Given the description of an element on the screen output the (x, y) to click on. 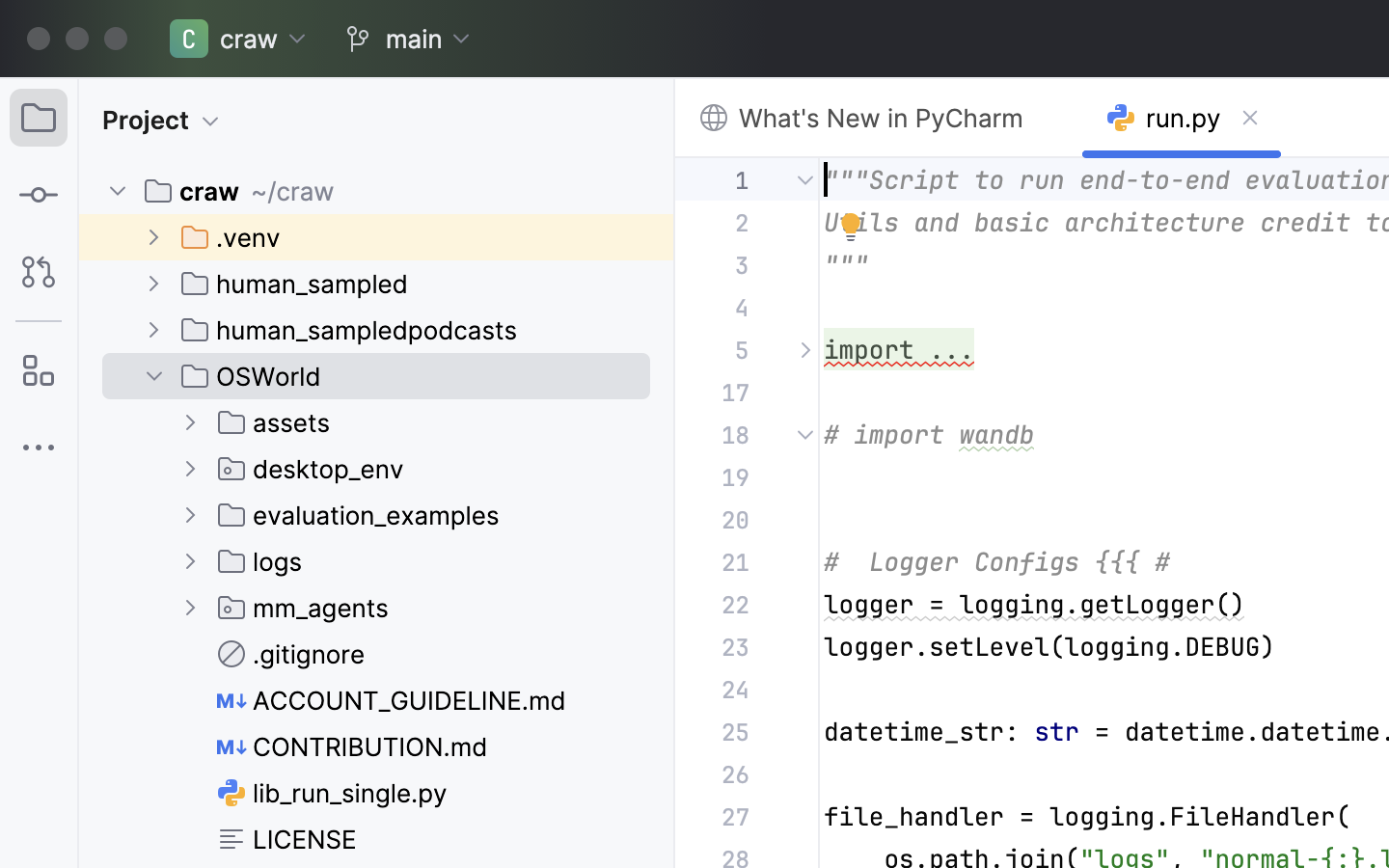
CONTRIBUTION.md Element type: AXStaticText (352, 746)
0 13 Element type: AXGroup (38, 32)
